Given the description of an element on the screen output the (x, y) to click on. 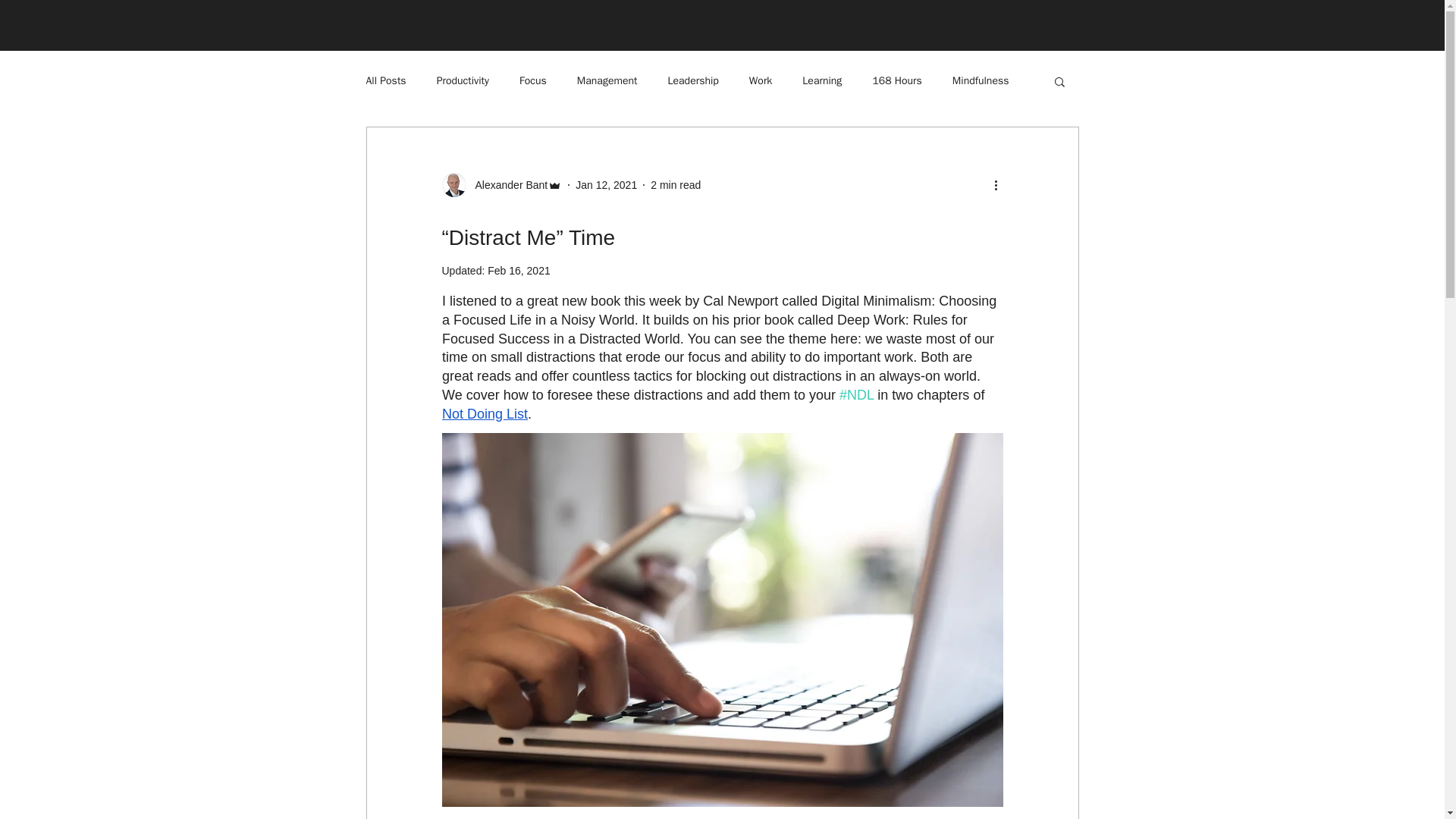
Learning (821, 80)
Feb 16, 2021 (518, 270)
Work (761, 80)
Leadership (691, 80)
Management (606, 80)
Jan 12, 2021 (606, 184)
All Posts (385, 80)
Productivity (462, 80)
Alexander Bant (501, 184)
Alexander Bant (506, 185)
